Given the description of an element on the screen output the (x, y) to click on. 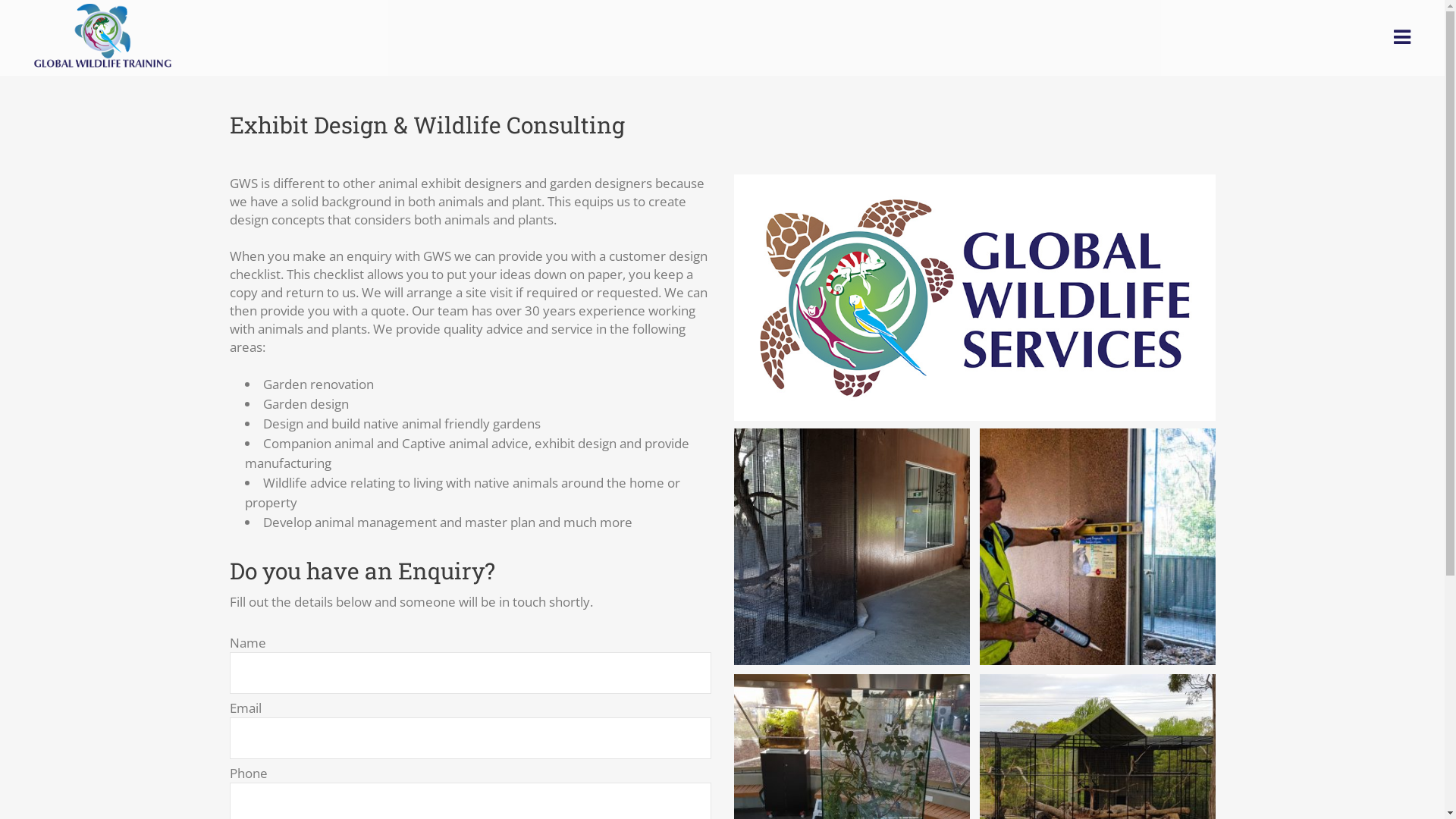
Brad Walker installing a new sign at central gardens Element type: hover (1097, 546)
New noturnal house at Central Gardens, Merryland NSW Element type: hover (852, 546)
